Given the description of an element on the screen output the (x, y) to click on. 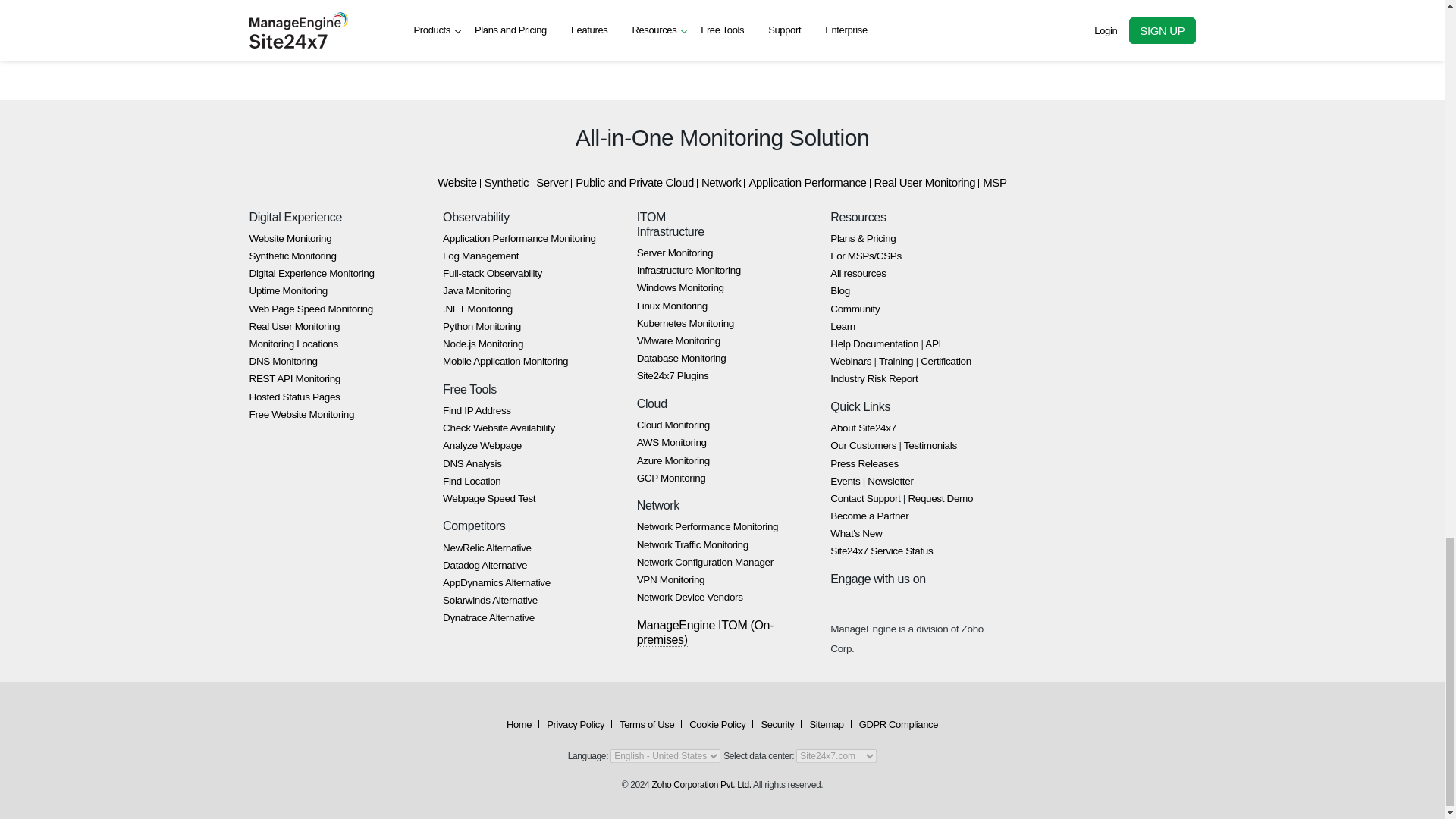
Uptime Monitoring (287, 290)
Managed Service Provider (865, 255)
Zoho Corporation Pvt. Ltd. (700, 784)
